Given the description of an element on the screen output the (x, y) to click on. 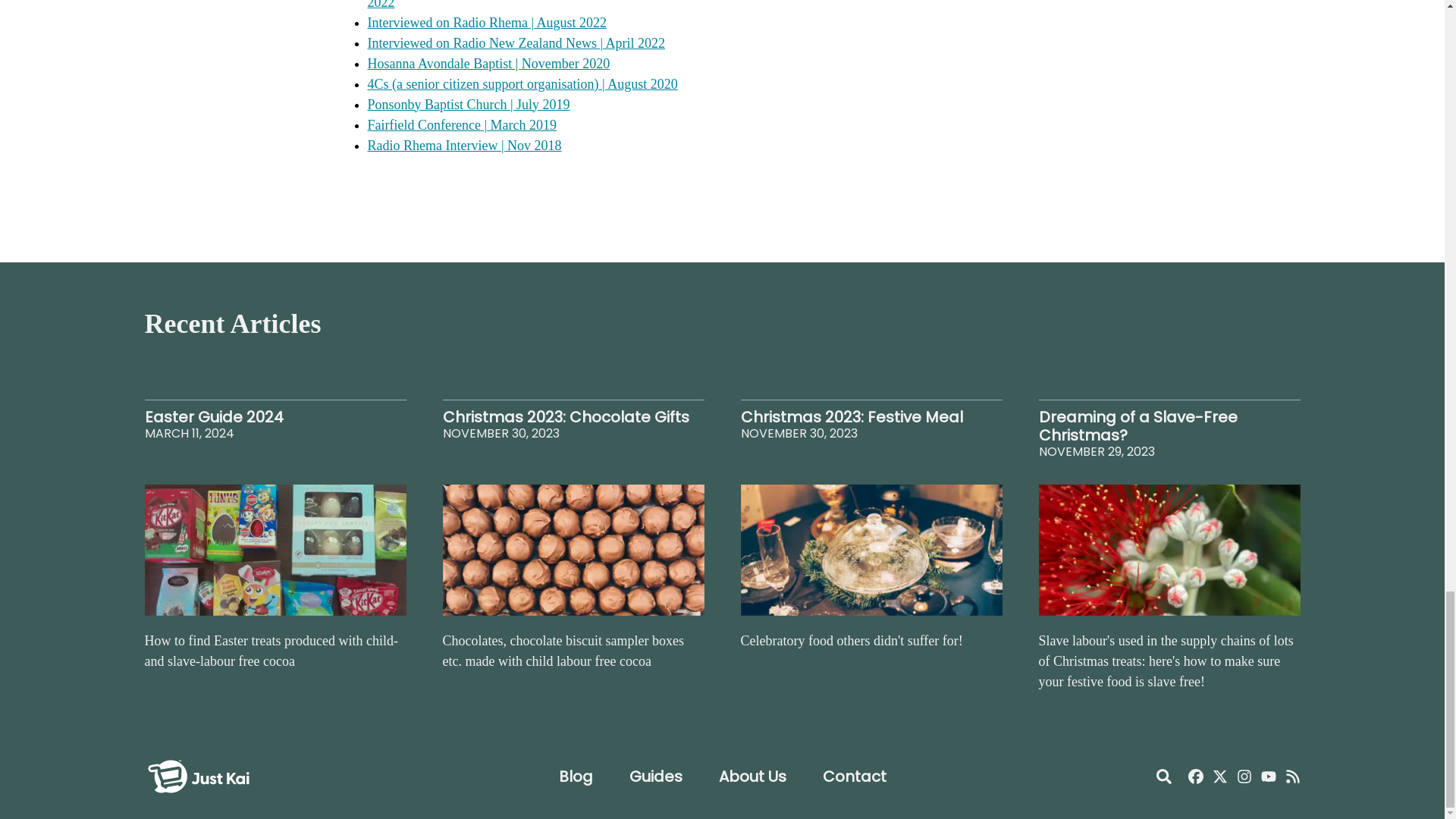
Just Kai Facebook (1195, 776)
Just Kai Home Page (197, 757)
